Given the description of an element on the screen output the (x, y) to click on. 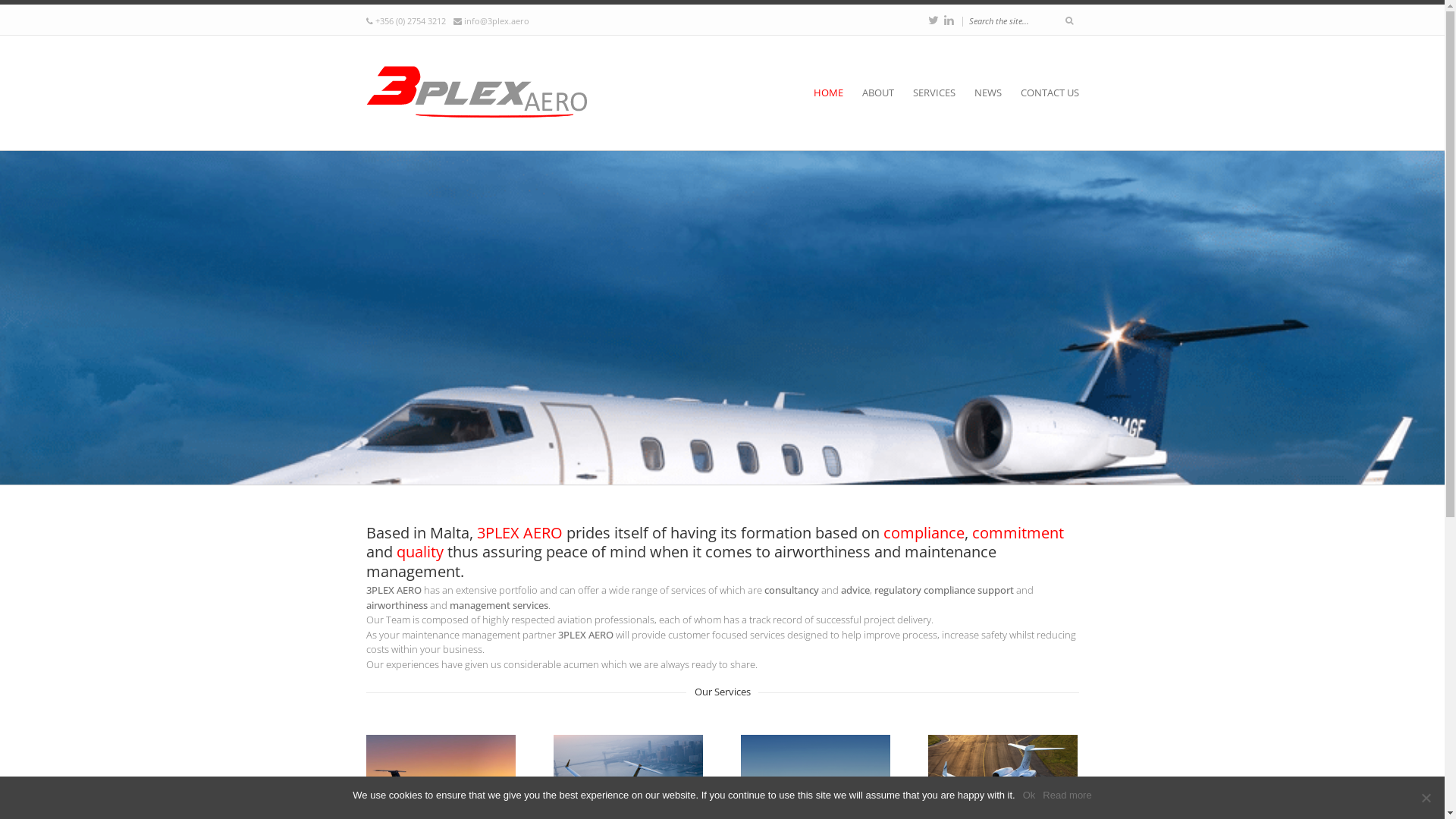
3Plex Aero Element type: hover (478, 92)
NEWS Element type: text (994, 92)
No Element type: hover (1425, 797)
ABOUT Element type: text (884, 92)
LinkedIn Element type: hover (948, 19)
Ok Element type: text (1028, 795)
CONTACT US Element type: text (1049, 92)
info@3plex.aero Element type: text (496, 20)
HOME Element type: text (834, 92)
Read more Element type: text (1066, 795)
SERVICES Element type: text (941, 92)
Twitter Element type: hover (933, 19)
